Given the description of an element on the screen output the (x, y) to click on. 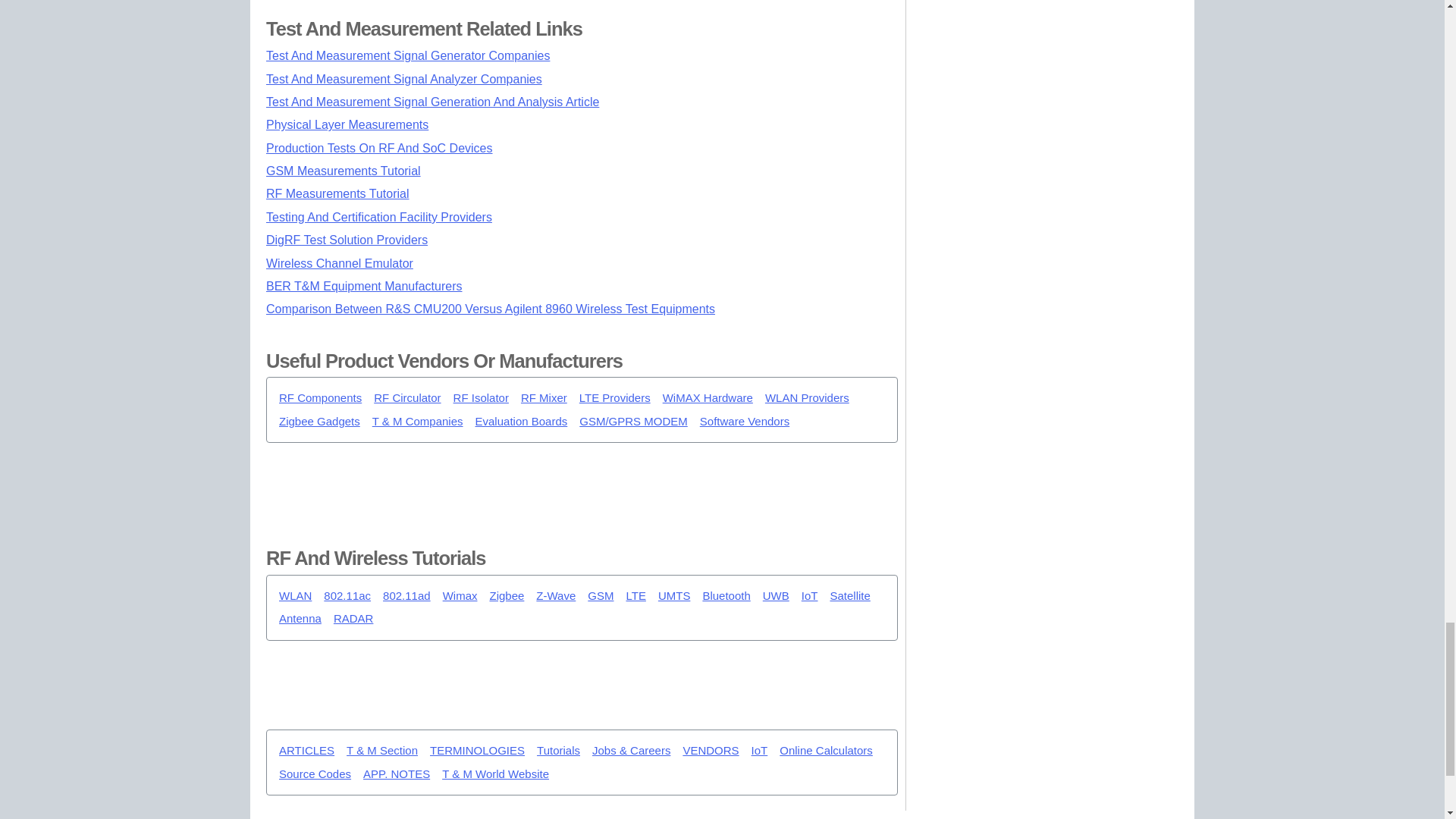
RF Mixer manufacturers and link to basics of RF mixer (544, 398)
WiMAX Hardware (707, 398)
Software vendors of wireless technologies (744, 421)
LTE Providers (614, 398)
Production Tests On RF And SoC Devices (379, 147)
Test and Measurement Companies (417, 421)
Zigbee Gadgets (319, 421)
Wireless Channel Emulator (339, 263)
RF Isolator (480, 398)
